Given the description of an element on the screen output the (x, y) to click on. 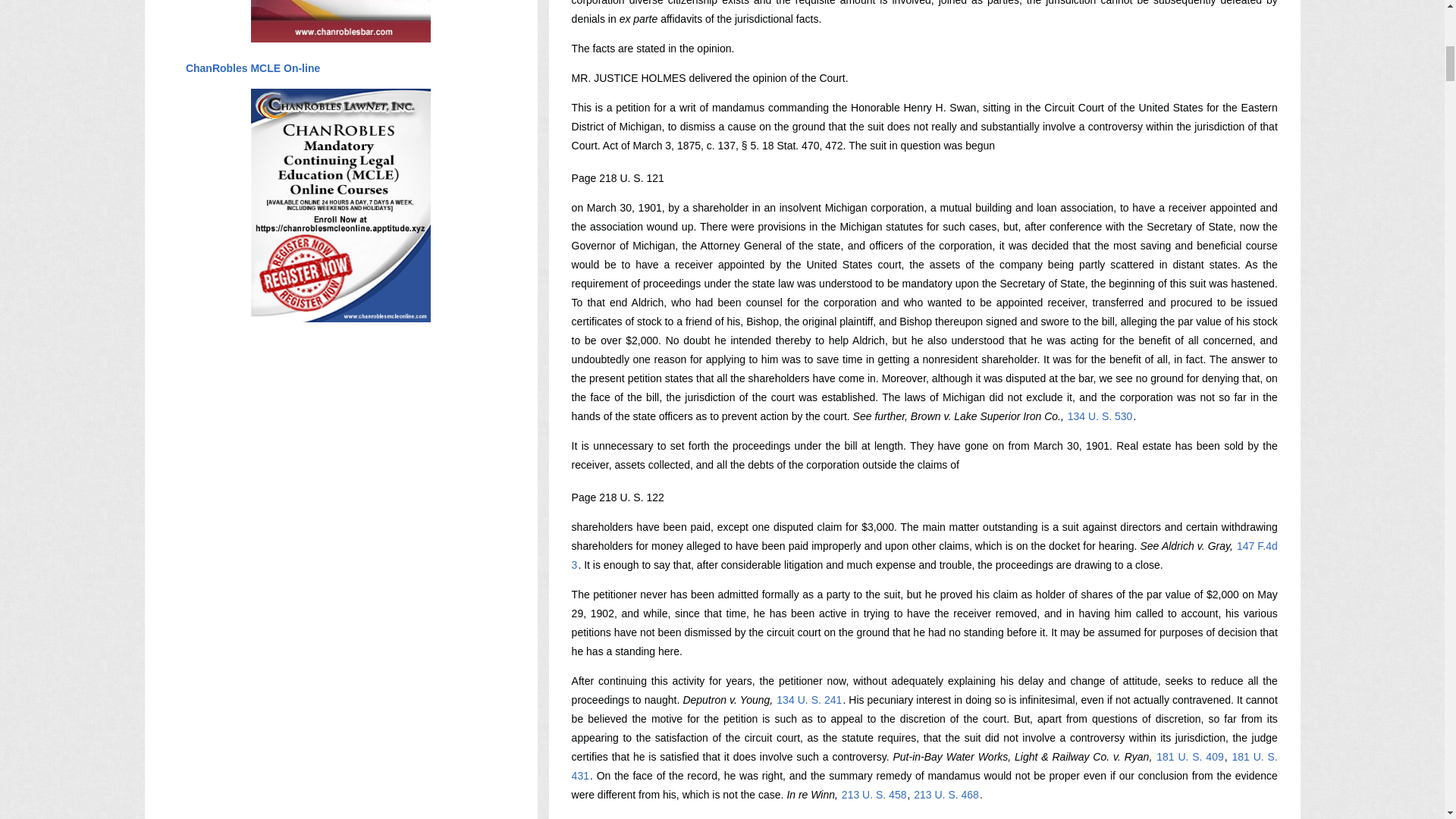
213 U. S. 468 (945, 794)
Page 218 U. S. 121 (617, 177)
134 U. S. 241 (809, 699)
Page 218 U. S. 122 (617, 497)
ChanRobles MCLE On-line (252, 68)
213 U. S. 458 (874, 794)
134 U. S. 530 (1100, 416)
